Given the description of an element on the screen output the (x, y) to click on. 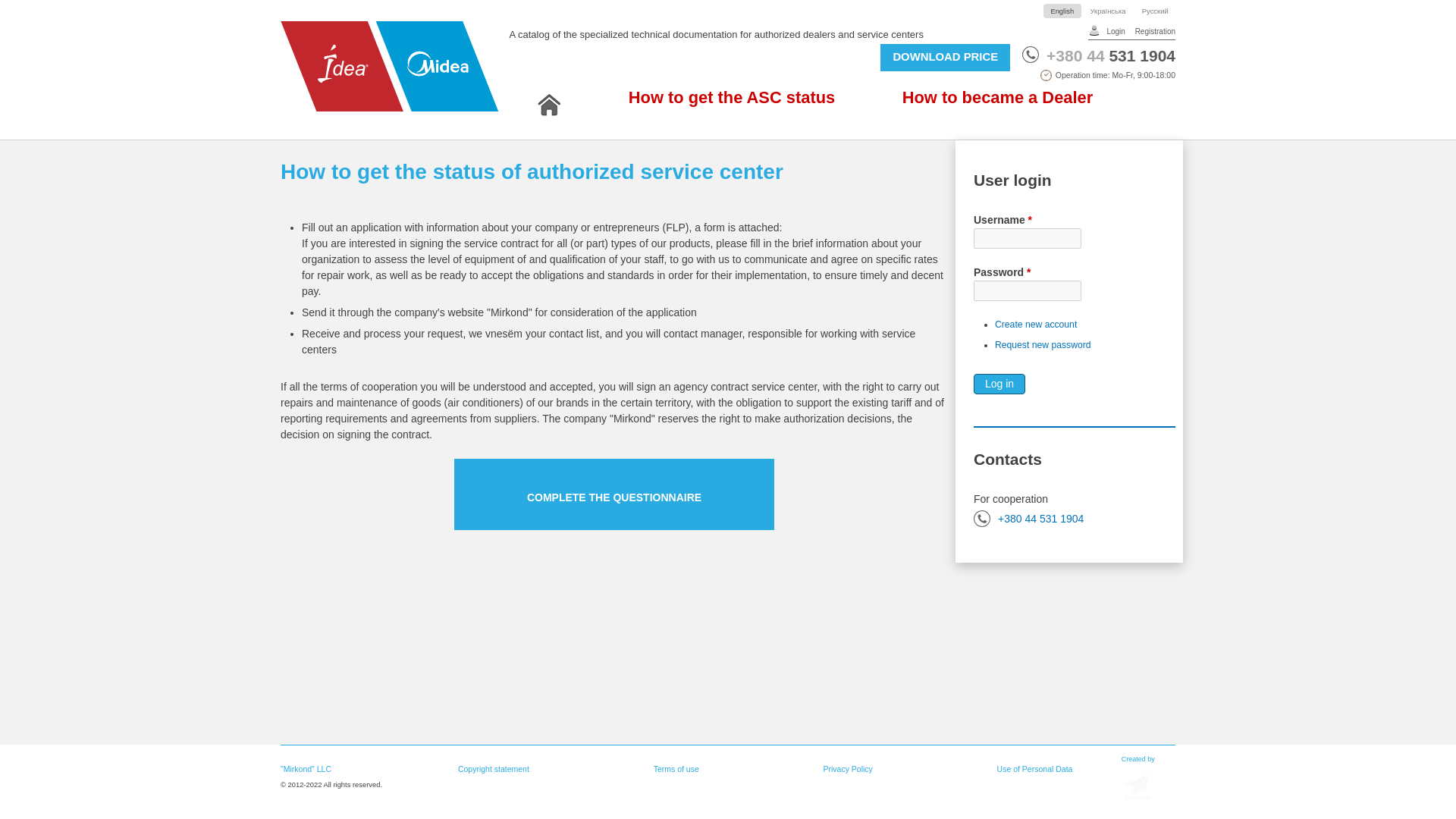
"Mirkond" LLC (355, 769)
Log in (999, 383)
Privacy Policy (847, 768)
Log in (999, 383)
English (1061, 11)
Terms of use (675, 768)
Home (548, 105)
Switch to the Russian language (1155, 11)
Go to the "Artmaster" site (1137, 786)
